Given the description of an element on the screen output the (x, y) to click on. 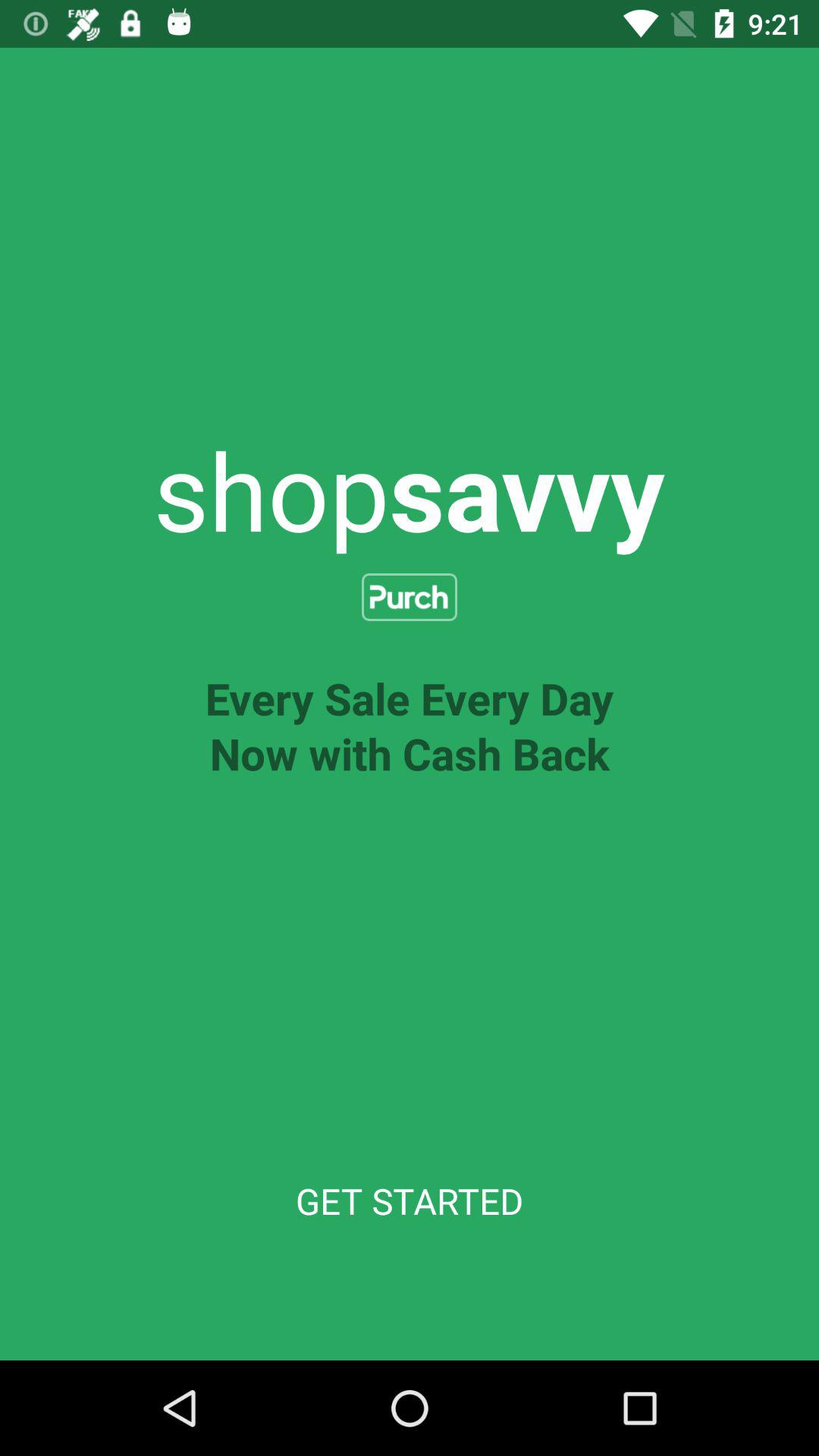
swipe until get started icon (409, 1201)
